Given the description of an element on the screen output the (x, y) to click on. 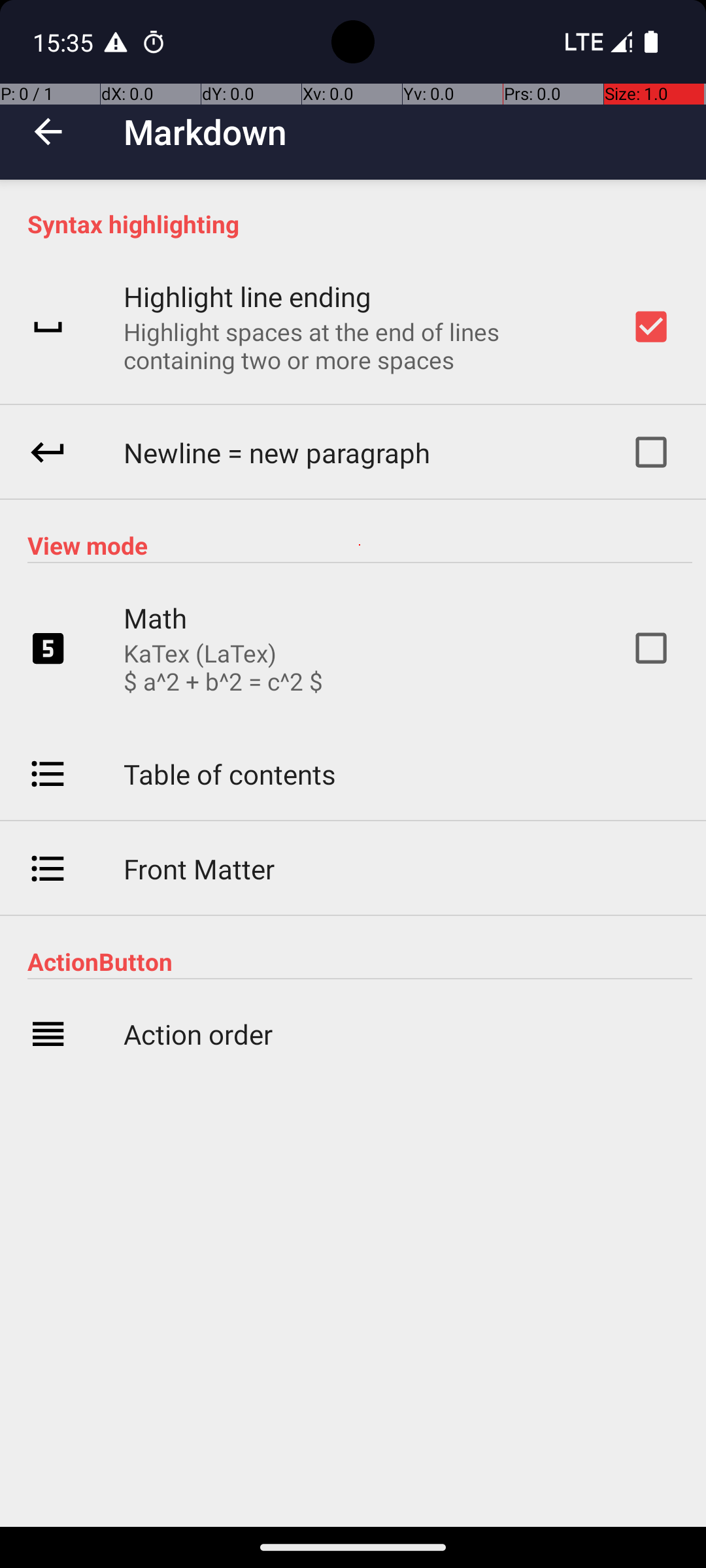
Markdown Element type: android.widget.TextView (205, 131)
Syntax highlighting Element type: android.widget.TextView (359, 223)
ActionButton Element type: android.widget.TextView (359, 961)
Highlight line ending Element type: android.widget.TextView (247, 295)
Highlight spaces at the end of lines containing two or more spaces Element type: android.widget.TextView (359, 345)
Newline = new paragraph Element type: android.widget.TextView (276, 452)
Math Element type: android.widget.TextView (154, 617)
KaTex (LaTex)
$ a^2 + b^2 = c^2 $ Element type: android.widget.TextView (222, 666)
Table of contents Element type: android.widget.TextView (229, 773)
Front Matter Element type: android.widget.TextView (199, 868)
Action order Element type: android.widget.TextView (197, 1033)
